Given the description of an element on the screen output the (x, y) to click on. 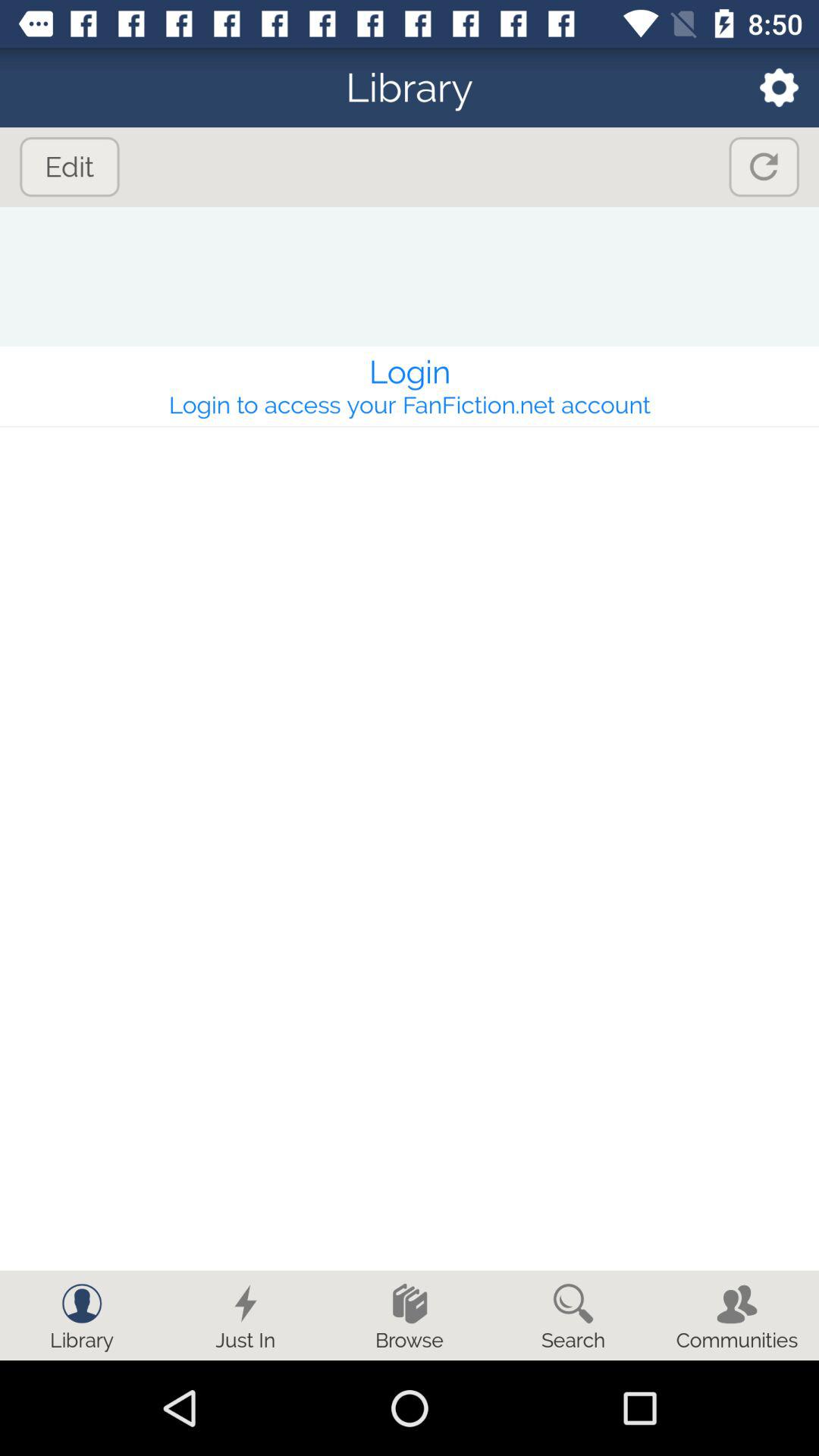
click on the edit button (69, 166)
select the icon which is above the communities (736, 1303)
